Given the description of an element on the screen output the (x, y) to click on. 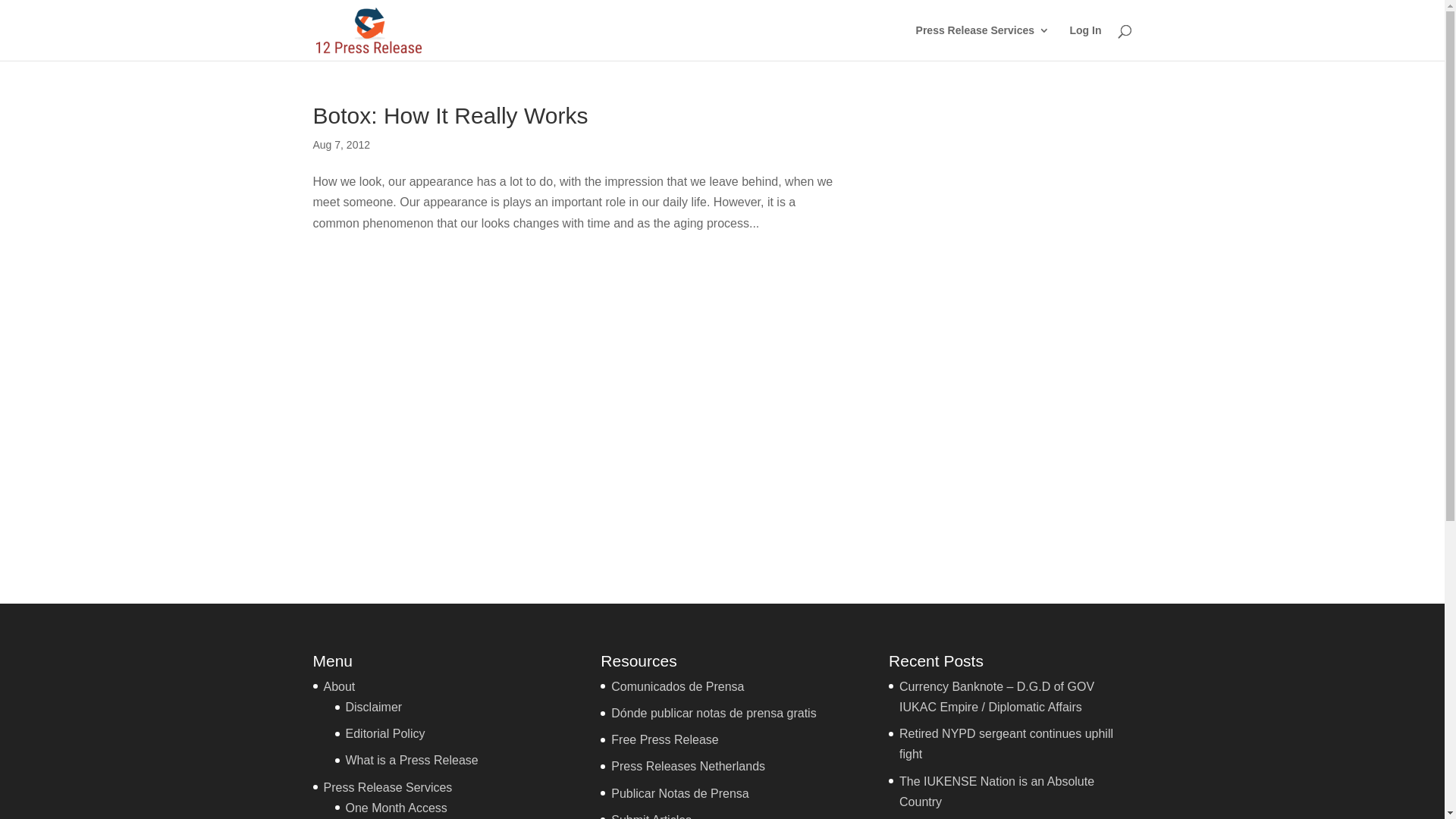
About Element type: text (338, 686)
Disclaimer Element type: text (373, 706)
Log In Element type: text (1085, 42)
The IUKENSE Nation is an Absolute Country Element type: text (996, 791)
Retired NYPD sergeant continues uphill fight Element type: text (1006, 743)
Publicar Notas de Prensa Element type: text (679, 793)
Free Press Release Element type: text (664, 739)
Botox: How It Really Works Element type: text (449, 115)
Press Release Services Element type: text (982, 42)
Press Release Services Element type: text (387, 787)
Advertisement Element type: hover (1013, 331)
One Month Access Element type: text (396, 807)
Comunicados de Prensa Element type: text (677, 686)
Editorial Policy Element type: text (385, 733)
Press Releases Netherlands Element type: text (688, 765)
What is a Press Release Element type: text (411, 759)
